Given the description of an element on the screen output the (x, y) to click on. 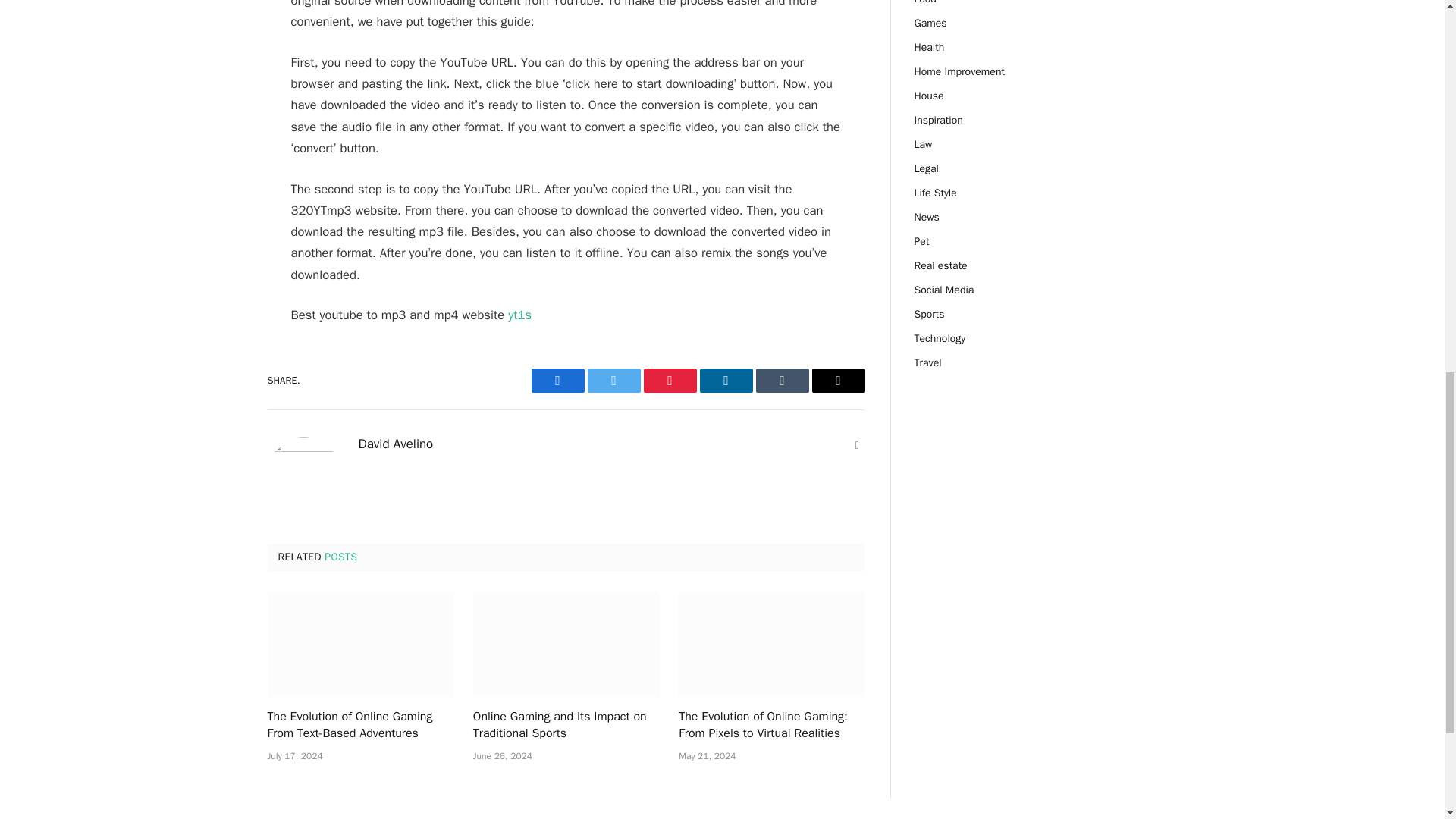
Facebook (557, 380)
yt1s (519, 314)
Pinterest (669, 380)
Twitter (613, 380)
